Given the description of an element on the screen output the (x, y) to click on. 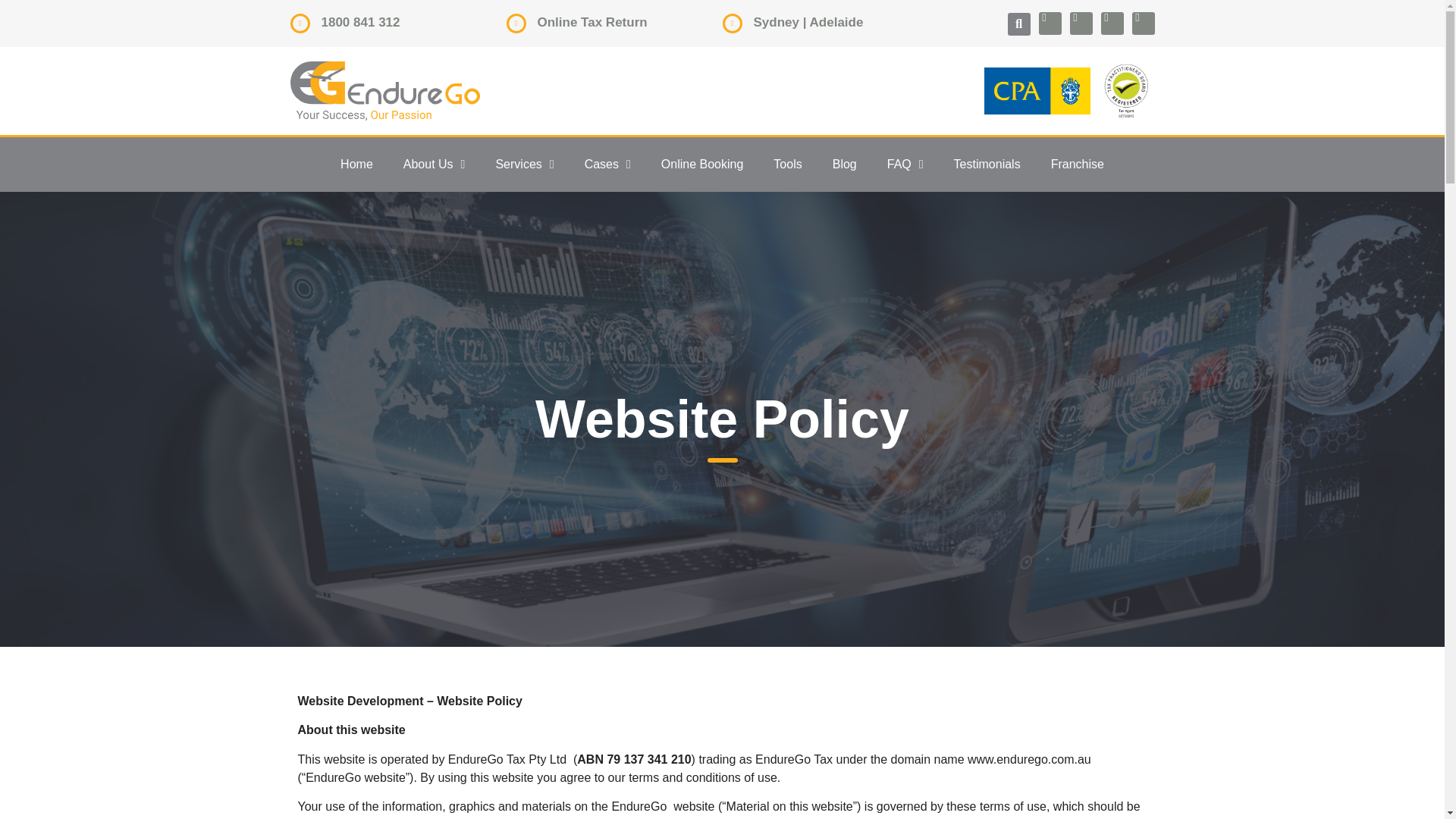
Online Tax Return (591, 22)
Home (356, 164)
About Us (434, 164)
Online Booking (702, 164)
Adelaide (836, 22)
Cases (607, 164)
Sydney (776, 22)
1800 841 312 (360, 22)
Services (524, 164)
Tools (787, 164)
